Given the description of an element on the screen output the (x, y) to click on. 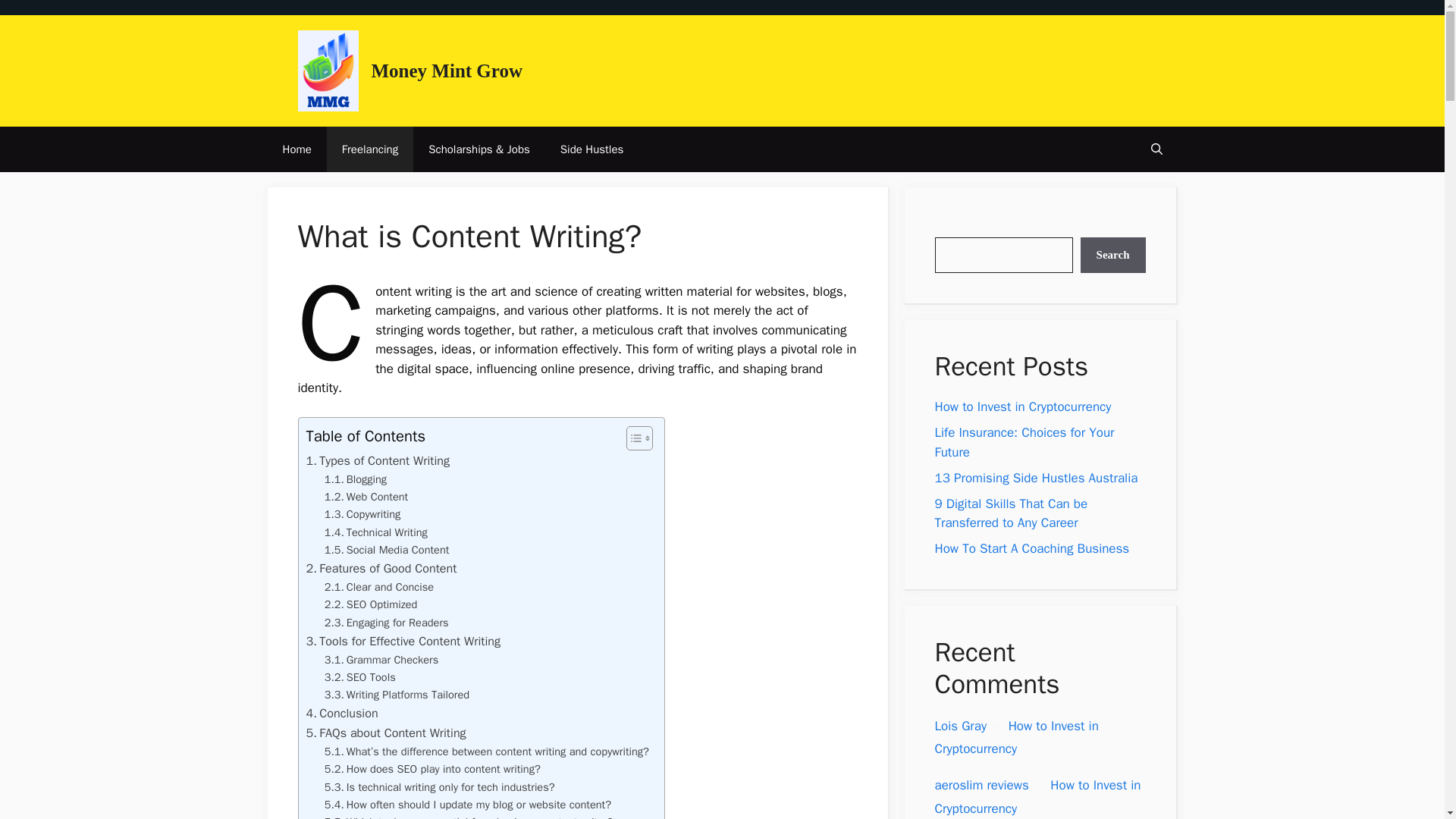
Freelancing (369, 148)
Which tools are essential for a beginner content writer? (468, 816)
SEO Optimized (370, 604)
Clear and Concise (378, 587)
Home (296, 148)
Tools for Effective Content Writing (402, 641)
Is technical writing only for tech industries? (439, 787)
Technical Writing (376, 532)
Grammar Checkers (381, 660)
Copywriting (362, 514)
Tools for Effective Content Writing (402, 641)
Engaging for Readers (386, 622)
FAQs about Content Writing (385, 732)
Conclusion (341, 713)
Money Mint Grow (446, 70)
